Given the description of an element on the screen output the (x, y) to click on. 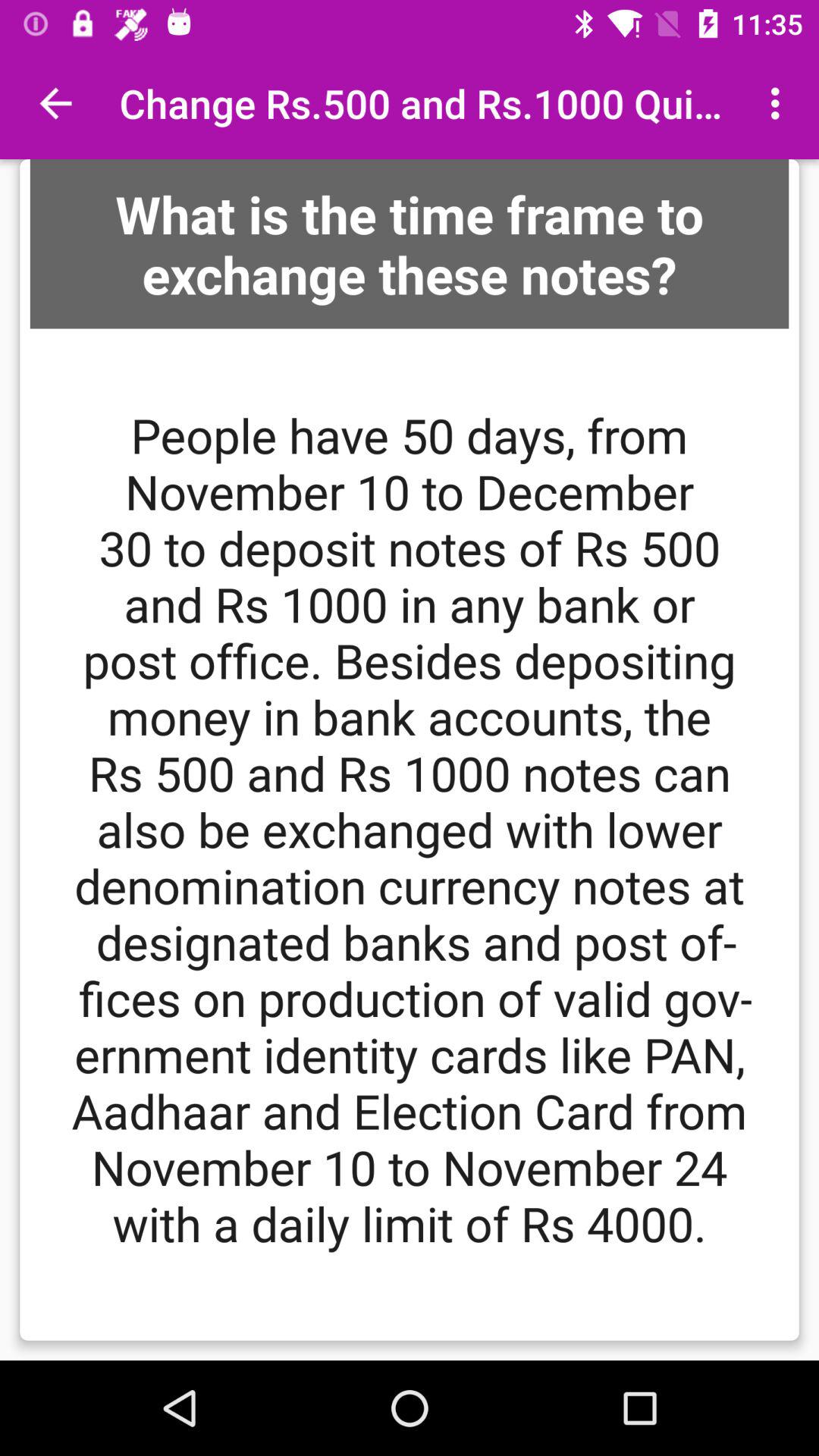
press the item above what is the item (779, 103)
